Given the description of an element on the screen output the (x, y) to click on. 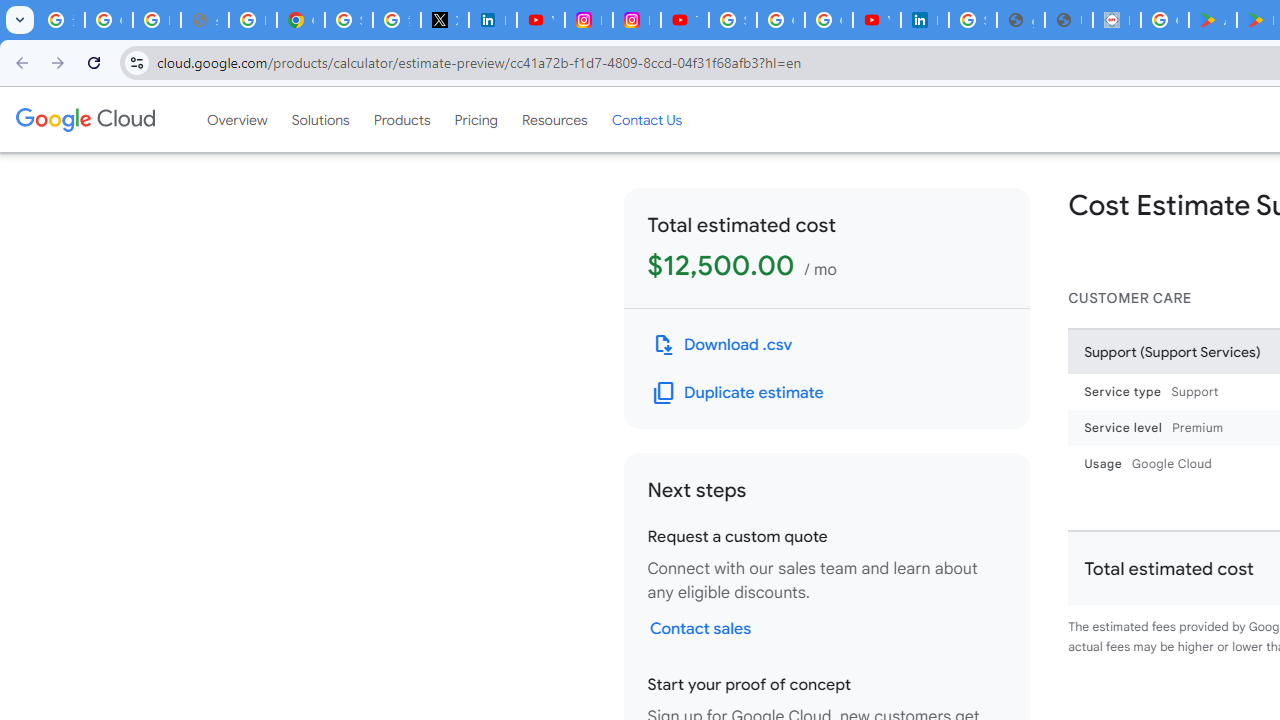
Pricing (476, 119)
Products (401, 119)
Android Apps on Google Play (1212, 20)
LinkedIn Privacy Policy (492, 20)
Sign in - Google Accounts (348, 20)
